Given the description of an element on the screen output the (x, y) to click on. 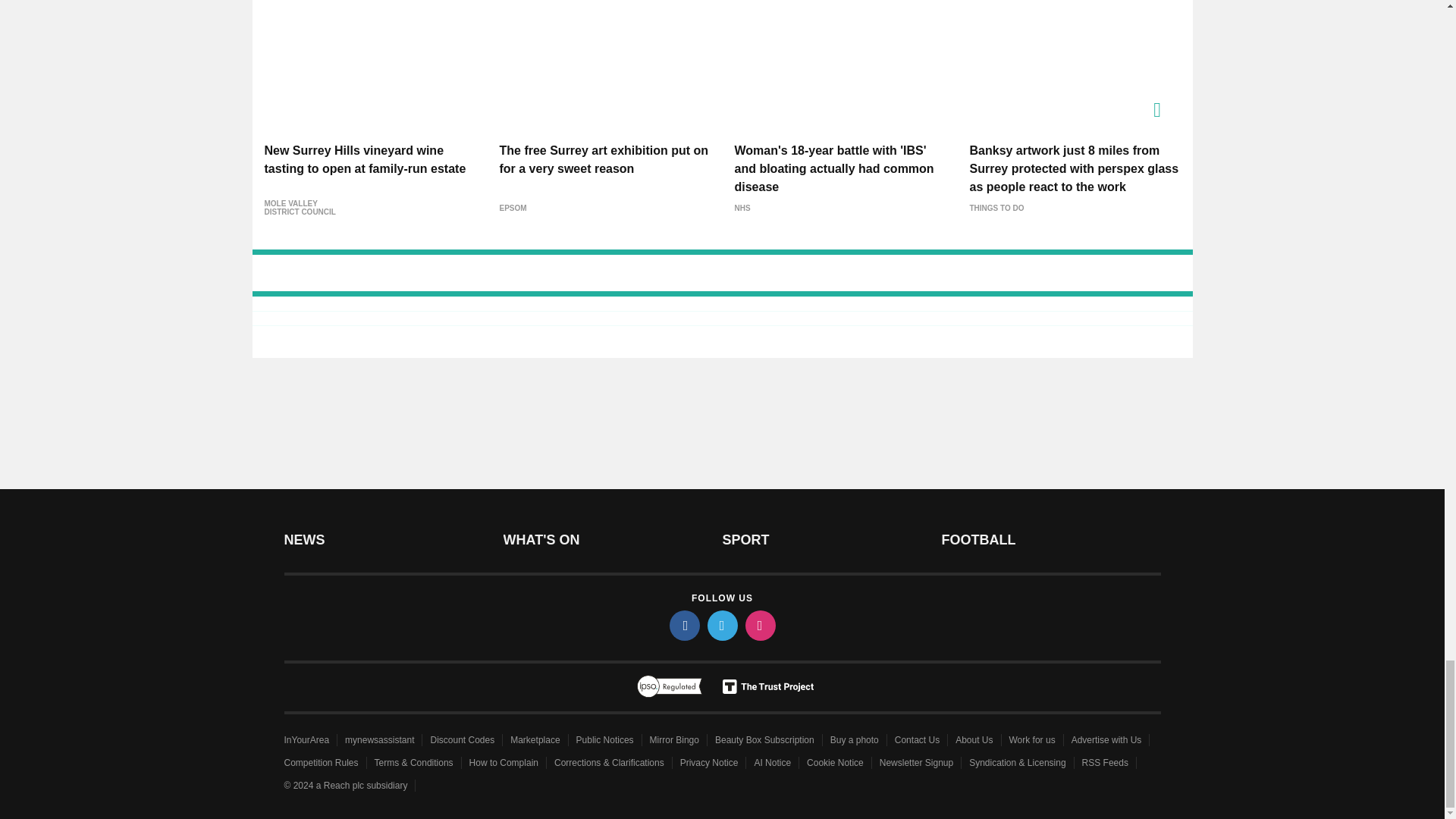
facebook (683, 625)
twitter (721, 625)
instagram (759, 625)
